Given the description of an element on the screen output the (x, y) to click on. 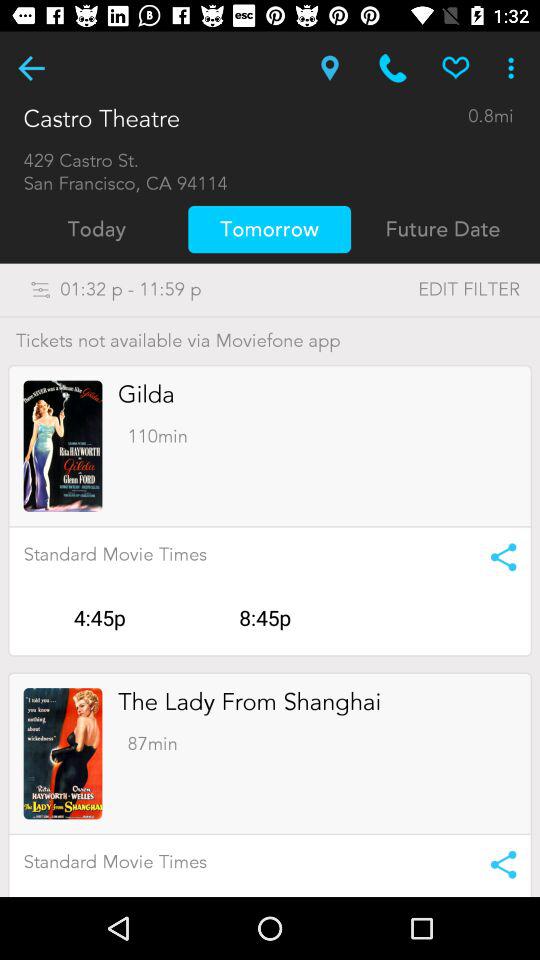
choose the icon to the right of 01 32 p icon (428, 289)
